Given the description of an element on the screen output the (x, y) to click on. 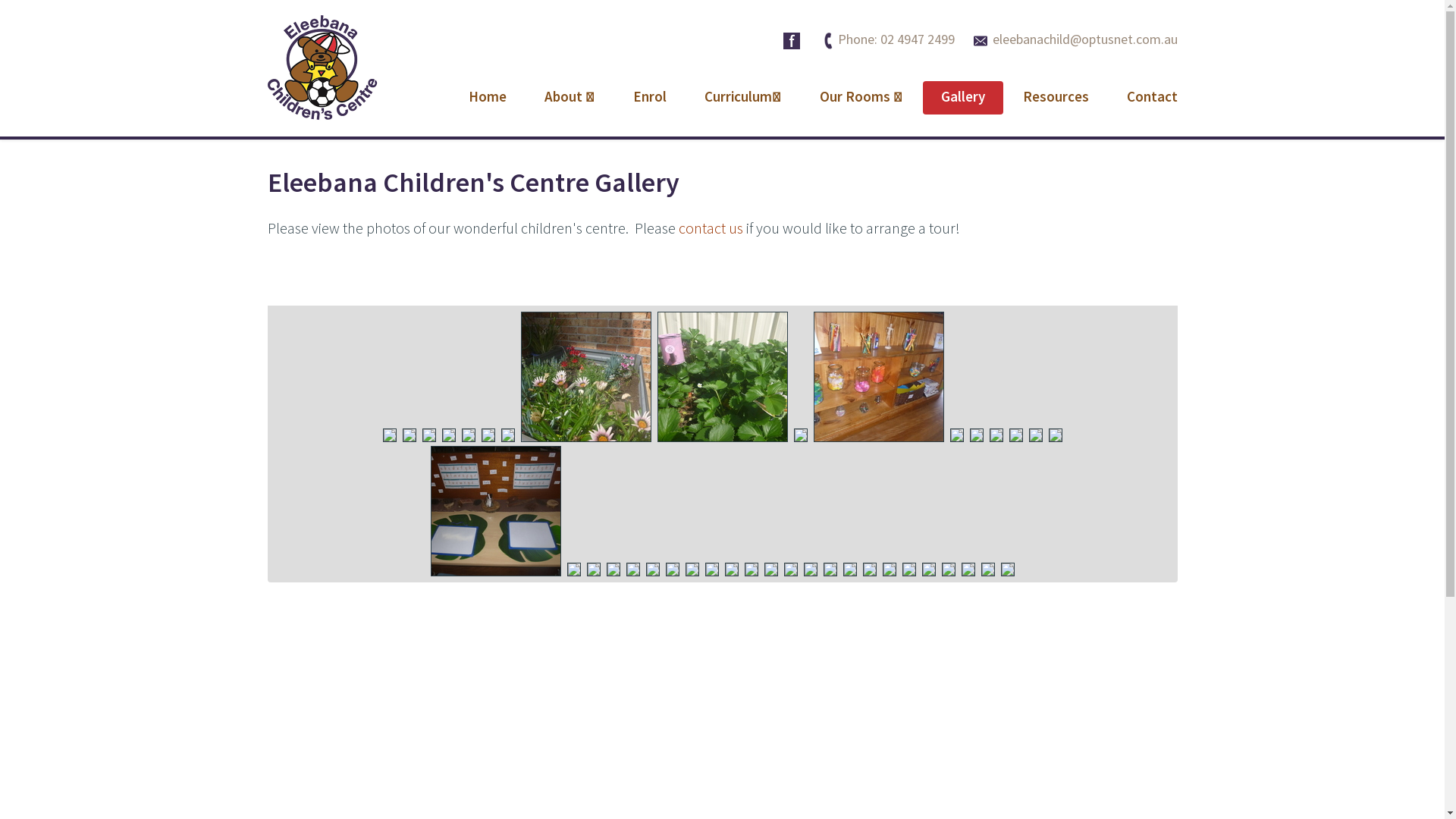
Phone: 02 4947 2499 Element type: text (888, 39)
contact us Element type: text (709, 228)
Enrol Element type: text (649, 97)
Home Element type: text (487, 97)
Resources Element type: text (1055, 97)
eleebanachild@optusnet.com.au Element type: text (1075, 39)
Contact Element type: text (1151, 97)
Gallery Element type: text (962, 97)
